Given the description of an element on the screen output the (x, y) to click on. 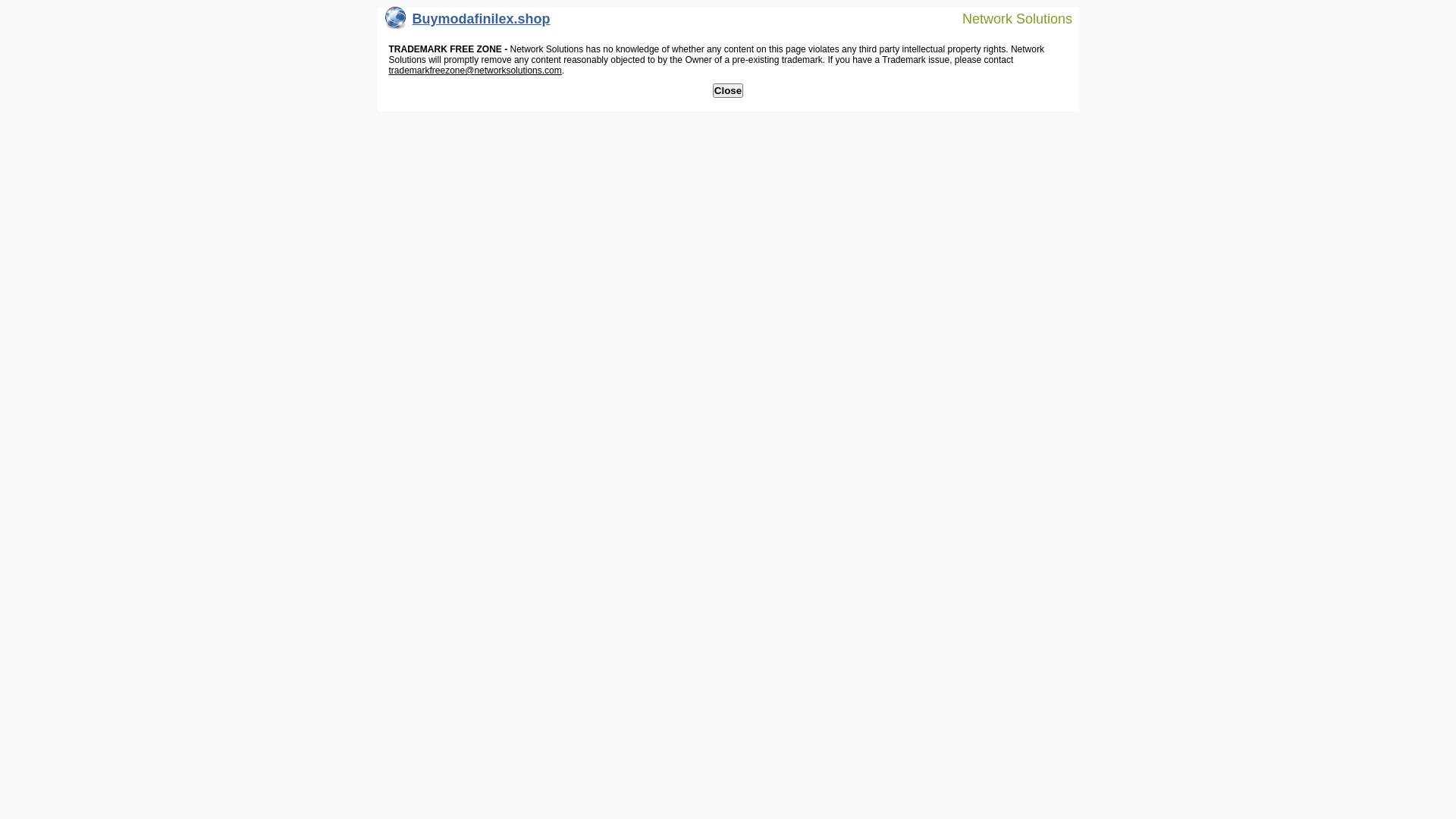
Network Solutions Element type: text (1007, 17)
Buymodafinilex.shop Element type: text (467, 21)
trademarkfreezone@networksolutions.com Element type: text (474, 70)
Close Element type: text (727, 90)
